Given the description of an element on the screen output the (x, y) to click on. 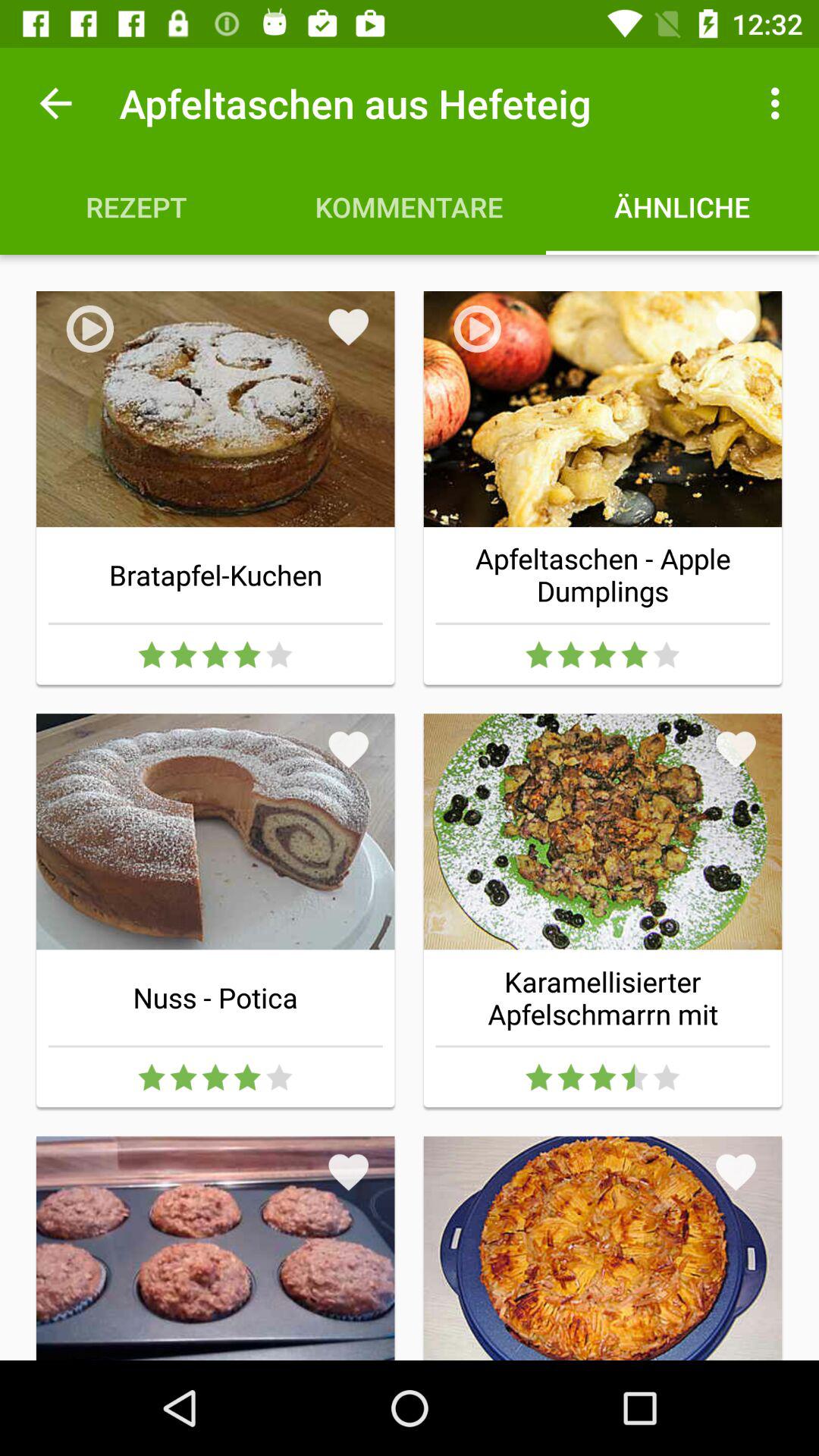
open the item next to the apfeltaschen aus hefeteig (55, 103)
